Given the description of an element on the screen output the (x, y) to click on. 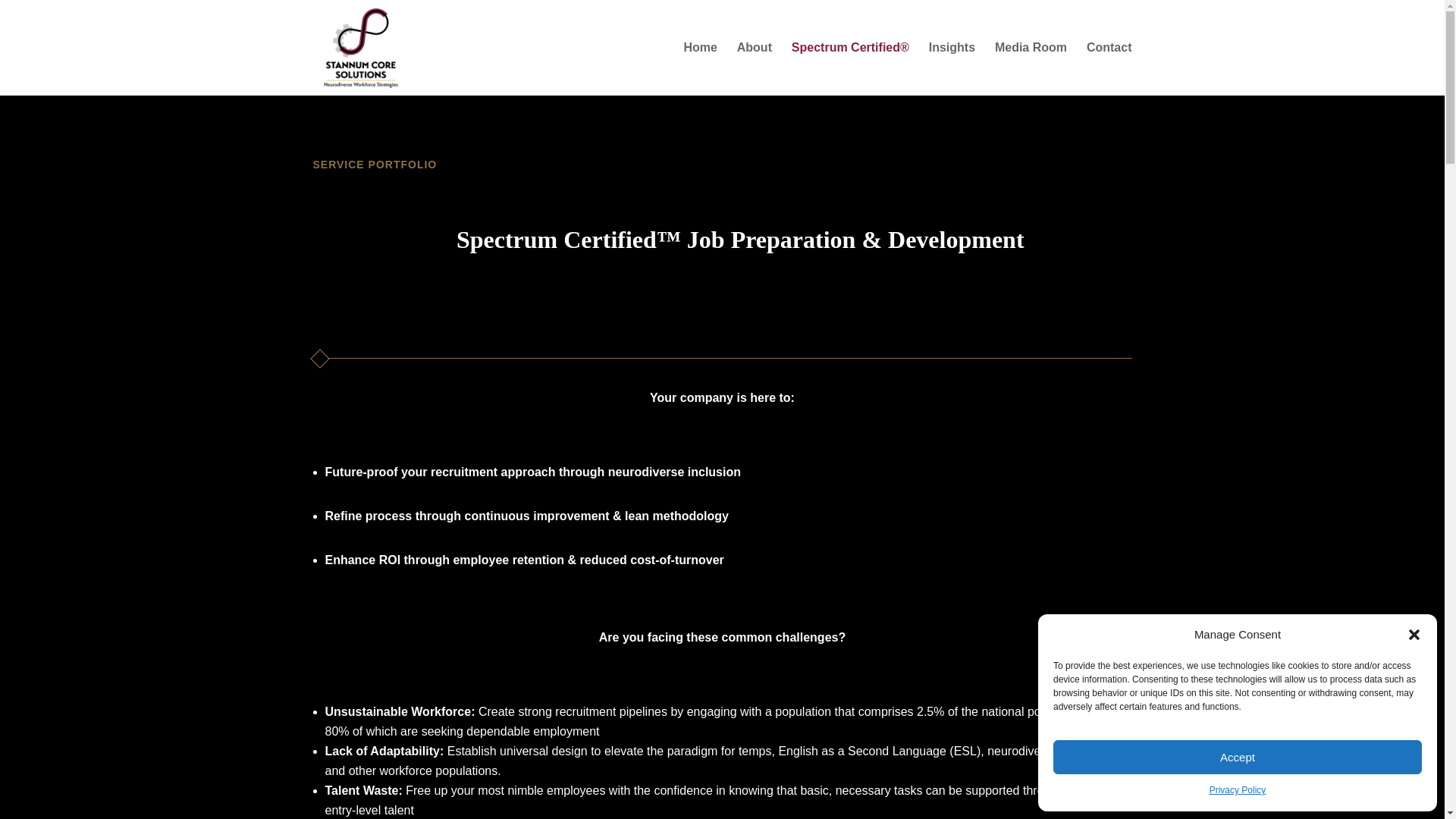
About (753, 68)
Media Room (1030, 68)
Accept (1237, 756)
Contact (1109, 68)
Home (699, 68)
Privacy Policy (1237, 791)
Insights (951, 68)
